Given the description of an element on the screen output the (x, y) to click on. 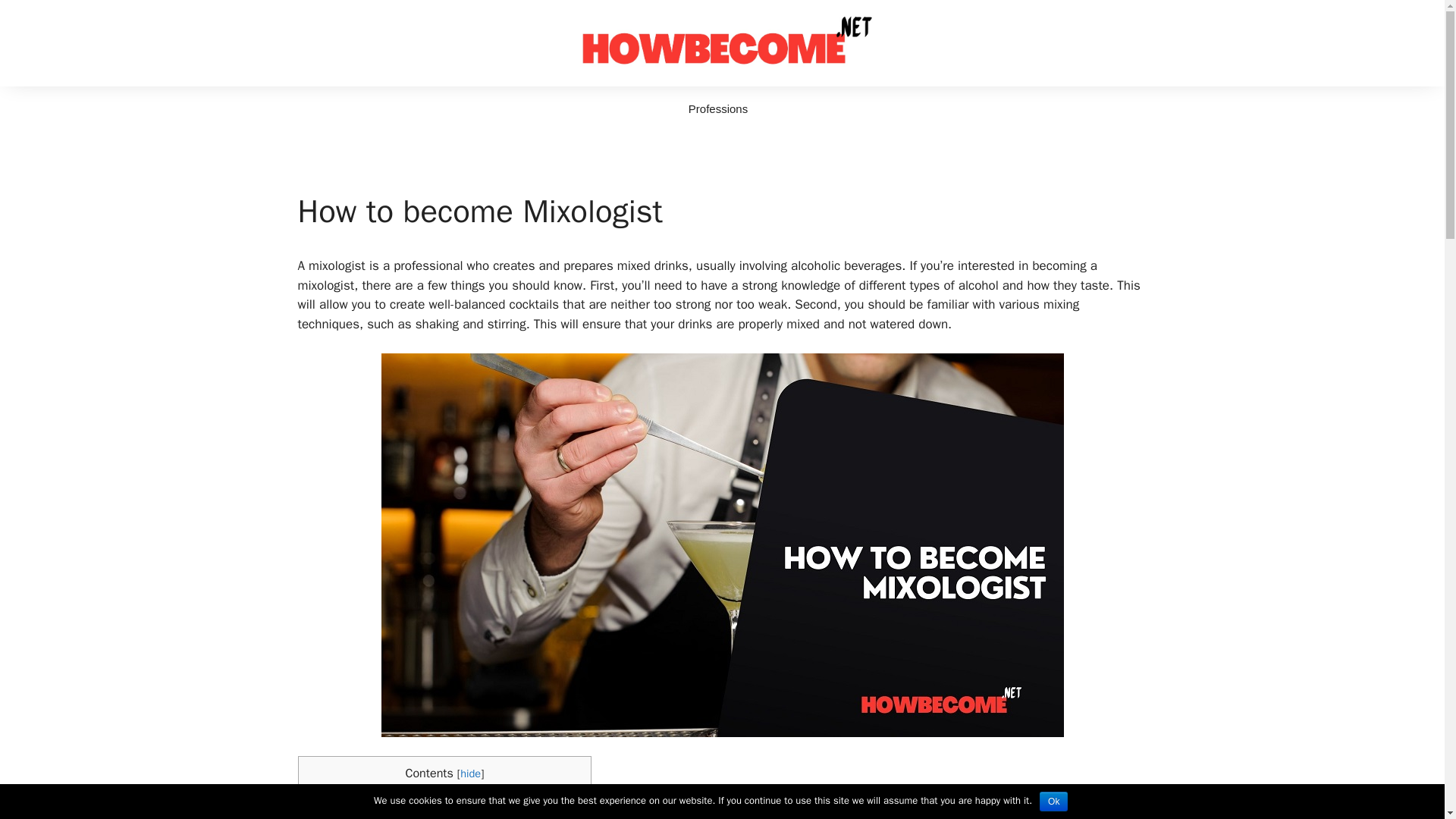
hide (470, 773)
1 What is a mixologist? (367, 803)
How Become (721, 43)
How Become (721, 41)
Ok (1053, 801)
2 The basics: mixing drinks (378, 816)
Professions (717, 108)
